Given the description of an element on the screen output the (x, y) to click on. 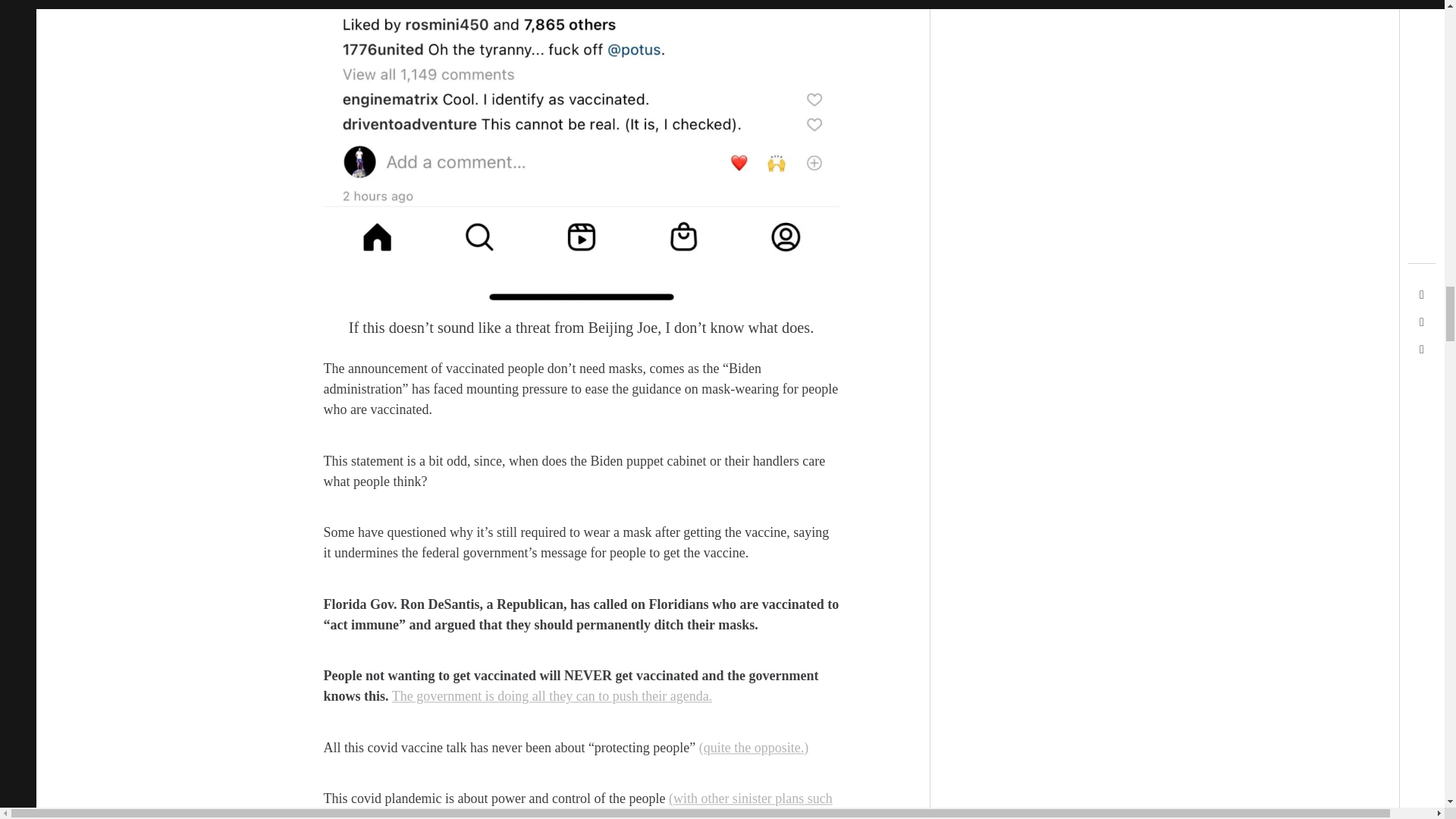
The government is doing all they can to push their agenda. (551, 696)
